Given the description of an element on the screen output the (x, y) to click on. 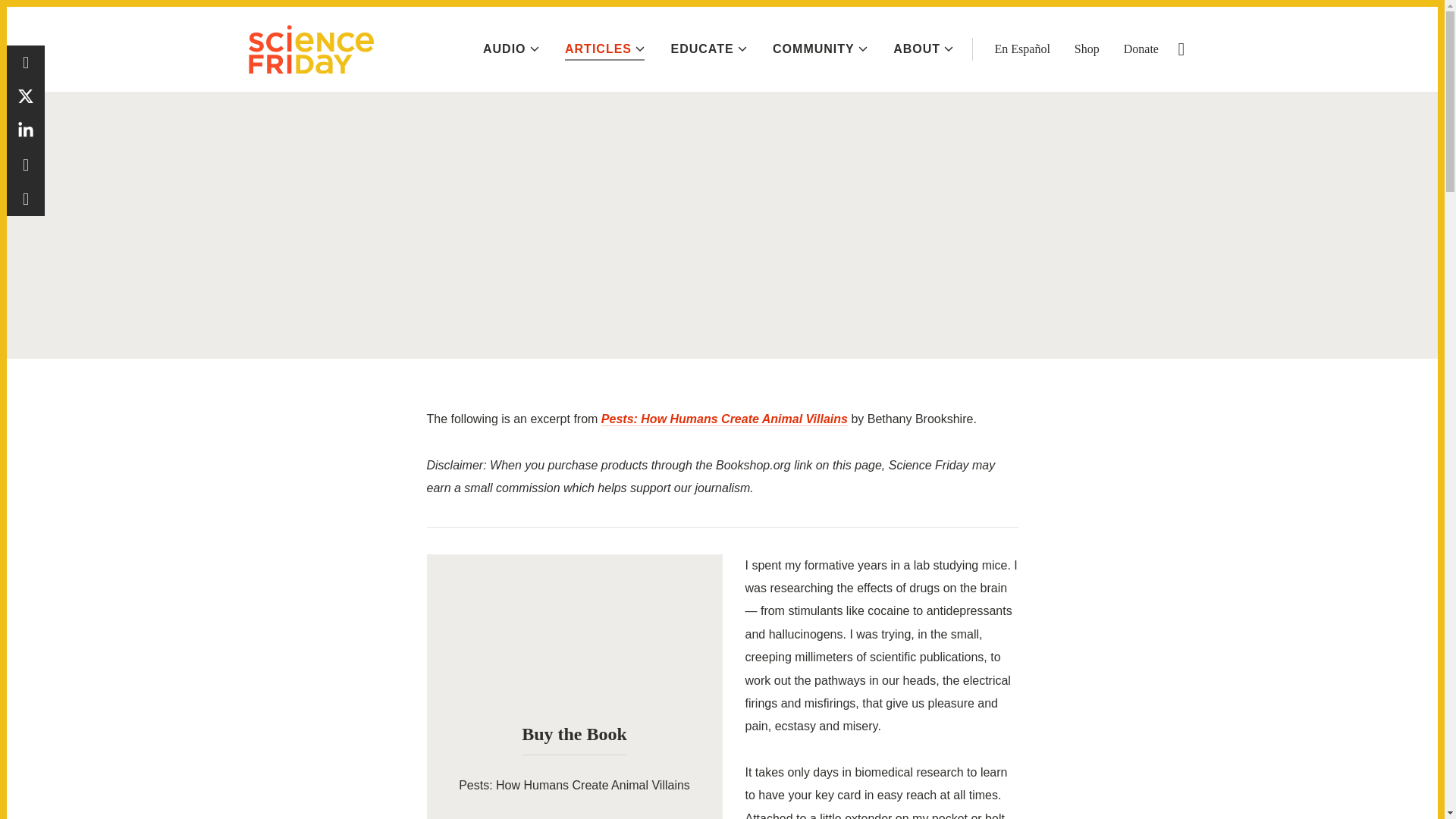
Search (1181, 48)
Reddit (26, 164)
X (26, 96)
Twitter (26, 96)
AUDIO (510, 48)
LATEST EPISODE (1360, 20)
LinkedIn (26, 130)
ARTICLES (604, 48)
EDUCATE (707, 48)
Facebook (26, 62)
Email (26, 198)
Shop (1086, 48)
Email (26, 198)
LinkedIn (26, 130)
ABOUT (923, 48)
